Given the description of an element on the screen output the (x, y) to click on. 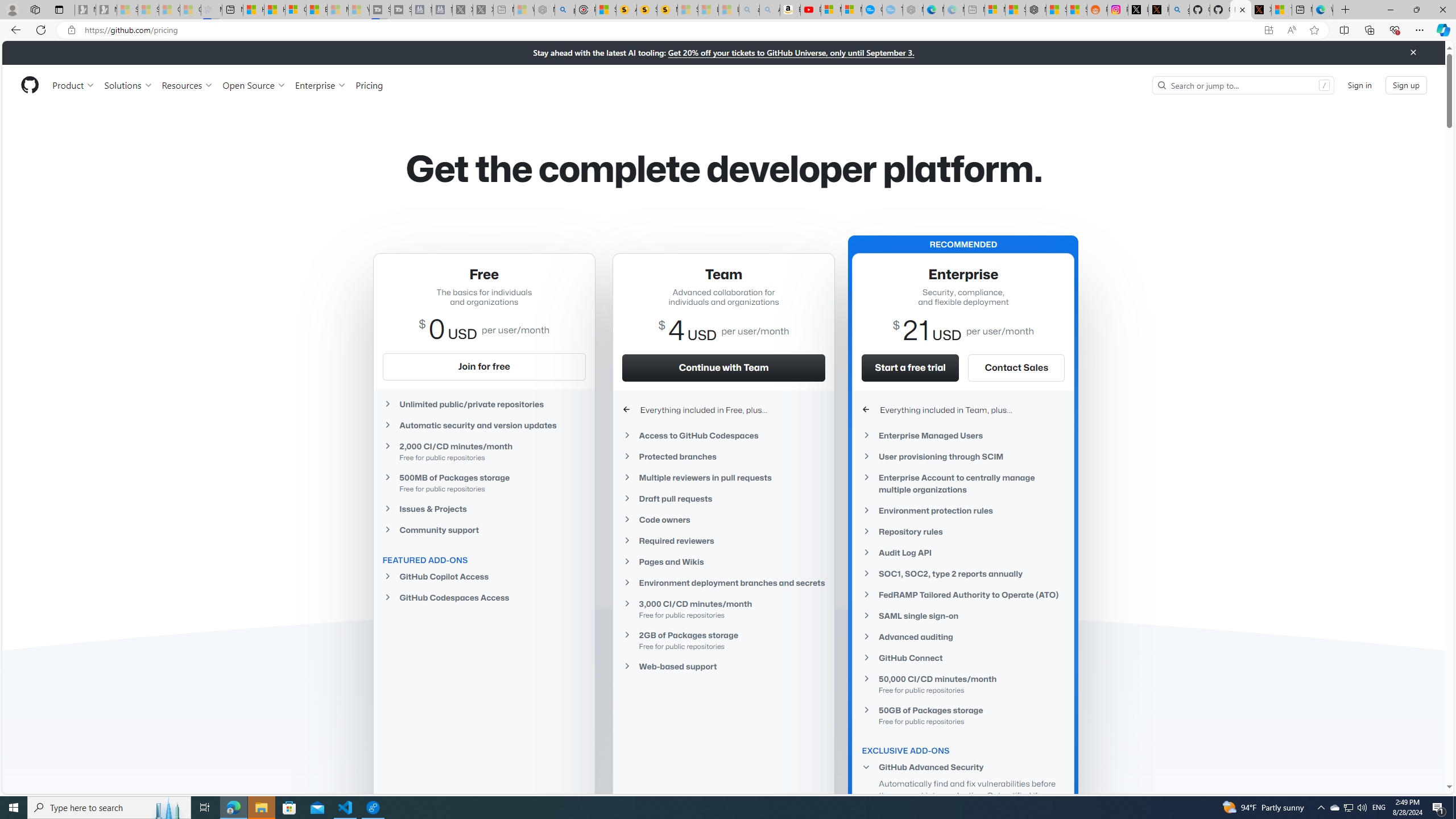
Nordace - Summer Adventures 2024 - Sleeping (544, 9)
Automatic security and version updates (483, 425)
Amazon Echo Dot PNG - Search Images - Sleeping (769, 9)
Draft pull requests (723, 498)
Enterprise Managed Users (963, 435)
Repository rules (963, 531)
SOC1, SOC2, type 2 reports annually (963, 573)
